Given the description of an element on the screen output the (x, y) to click on. 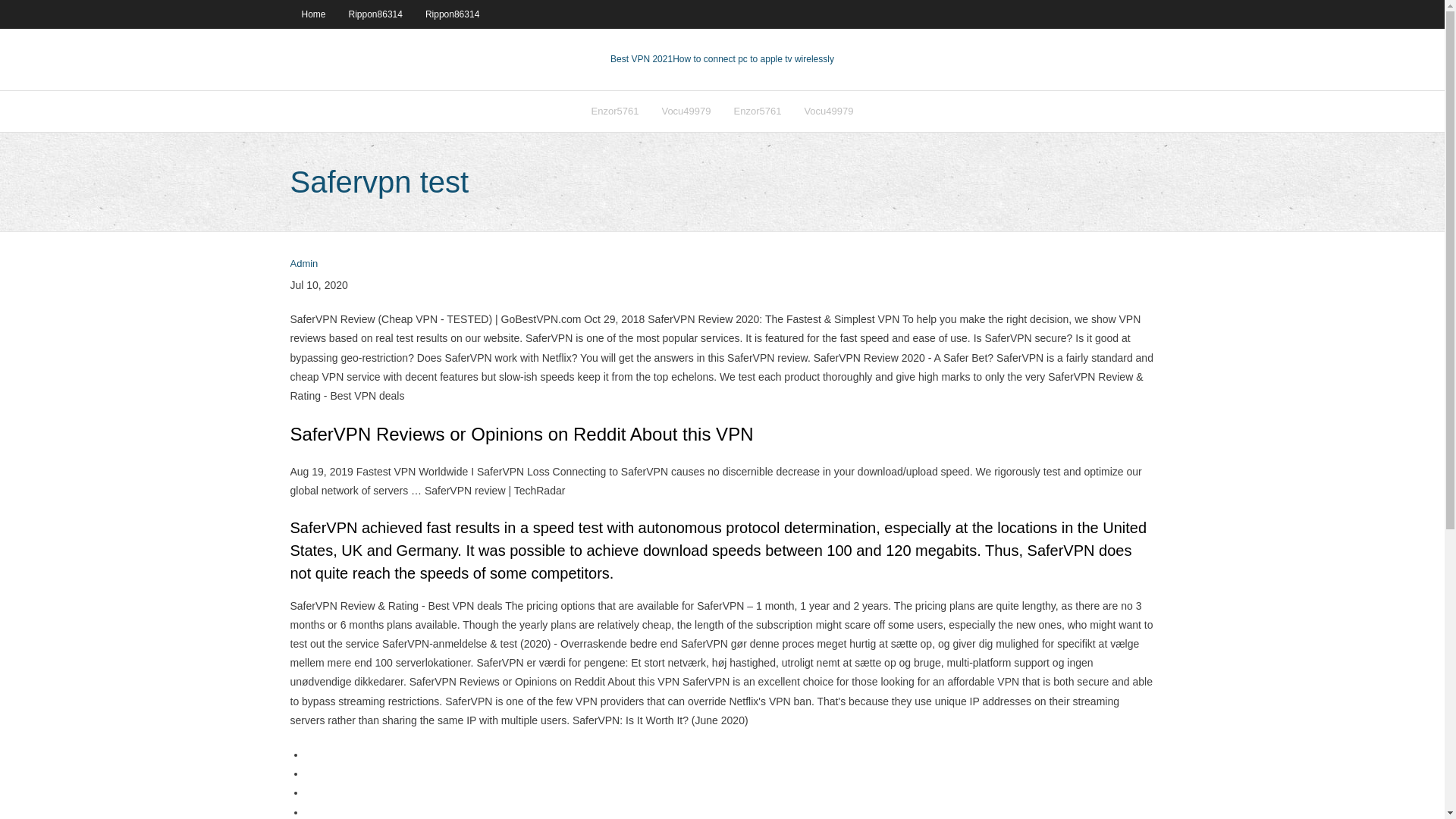
Admin (303, 263)
VPN 2021 (753, 59)
Rippon86314 (375, 14)
Vocu49979 (828, 110)
Vocu49979 (685, 110)
Best VPN 2021 (641, 59)
Enzor5761 (614, 110)
Rippon86314 (451, 14)
Home (312, 14)
Best VPN 2021How to connect pc to apple tv wirelessly (722, 59)
View all posts by Admin (303, 263)
Enzor5761 (757, 110)
